Given the description of an element on the screen output the (x, y) to click on. 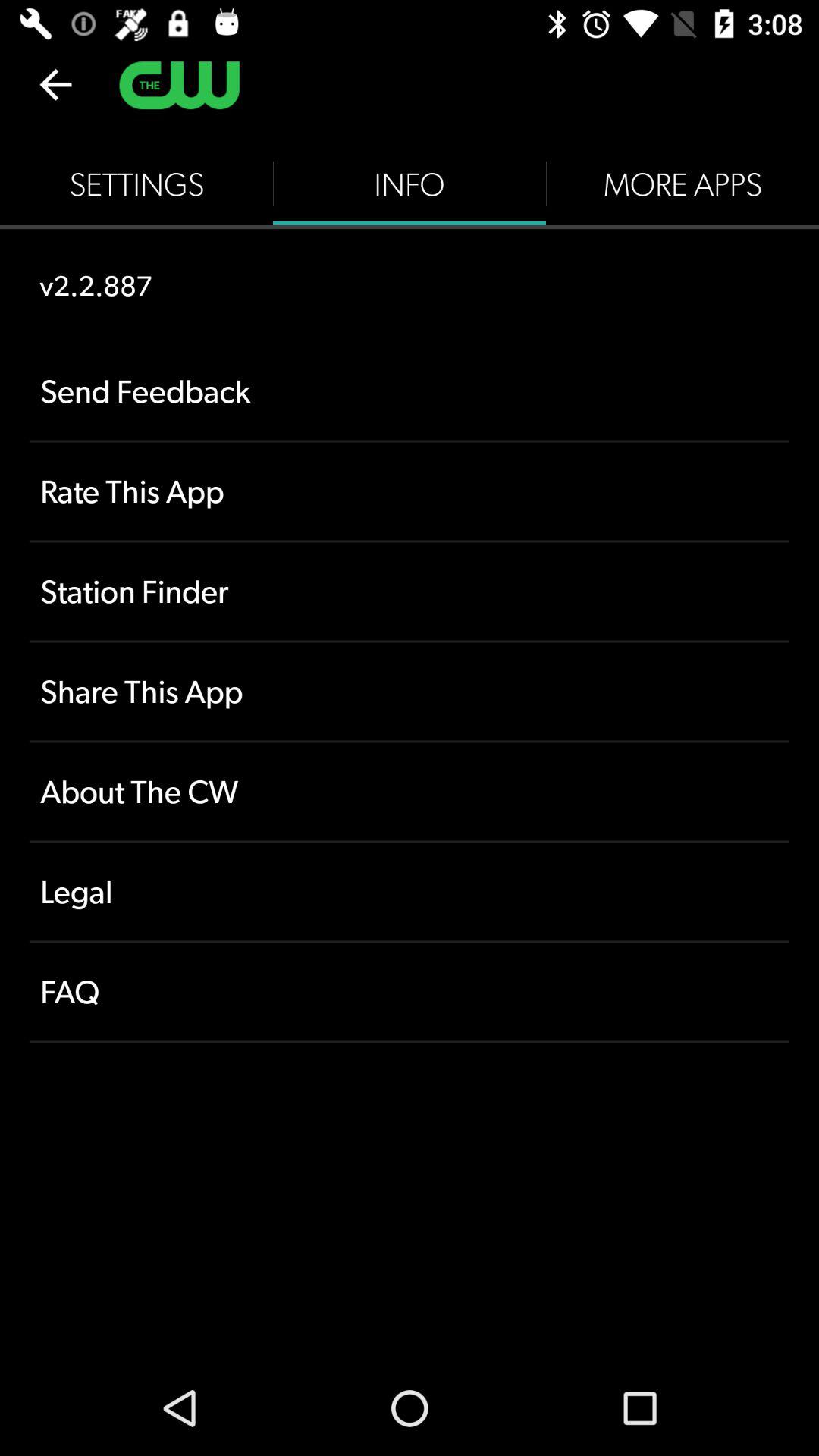
launch icon to the left of the info (136, 184)
